Given the description of an element on the screen output the (x, y) to click on. 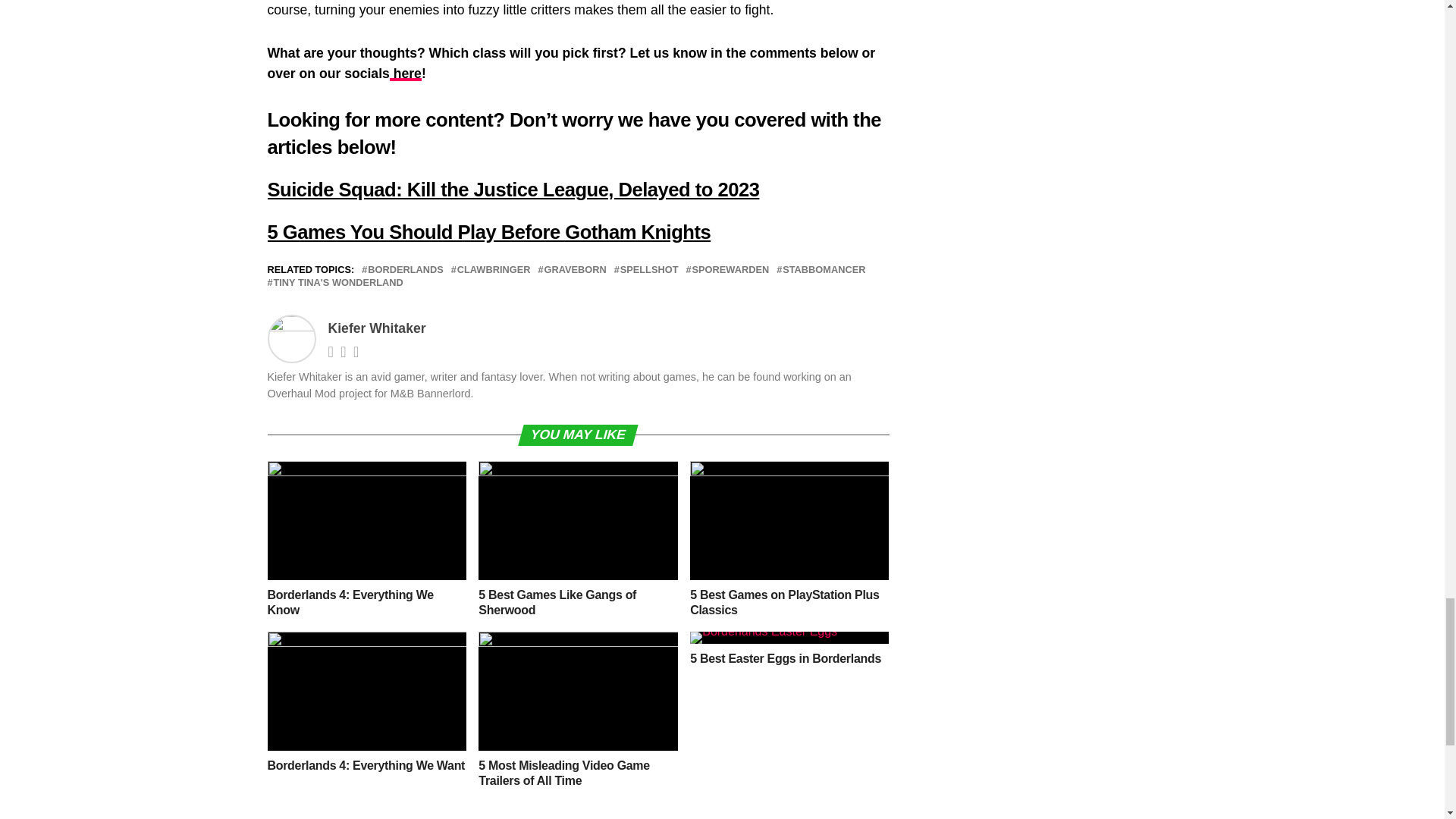
Posts by Kiefer Whitaker (376, 328)
